Given the description of an element on the screen output the (x, y) to click on. 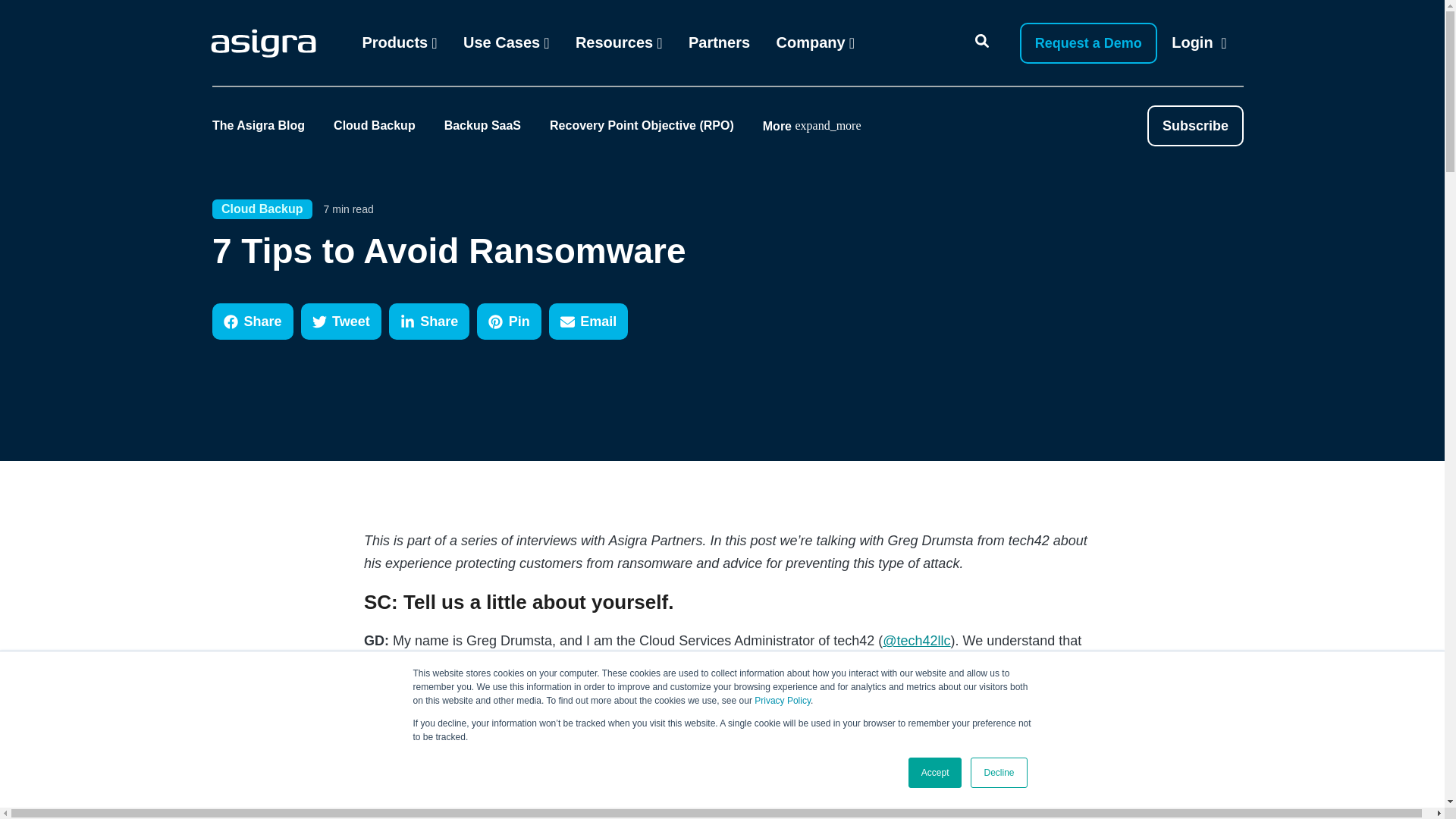
Share on LinkedIn (429, 321)
Chat Widget (1406, 770)
Use Cases (505, 42)
Products (399, 43)
Tweet on Twitter (341, 321)
Accept (935, 772)
Pin! (509, 321)
Share on Facebook (253, 321)
Email (588, 321)
Privacy Policy (782, 700)
Decline (998, 772)
Resources (619, 42)
